Given the description of an element on the screen output the (x, y) to click on. 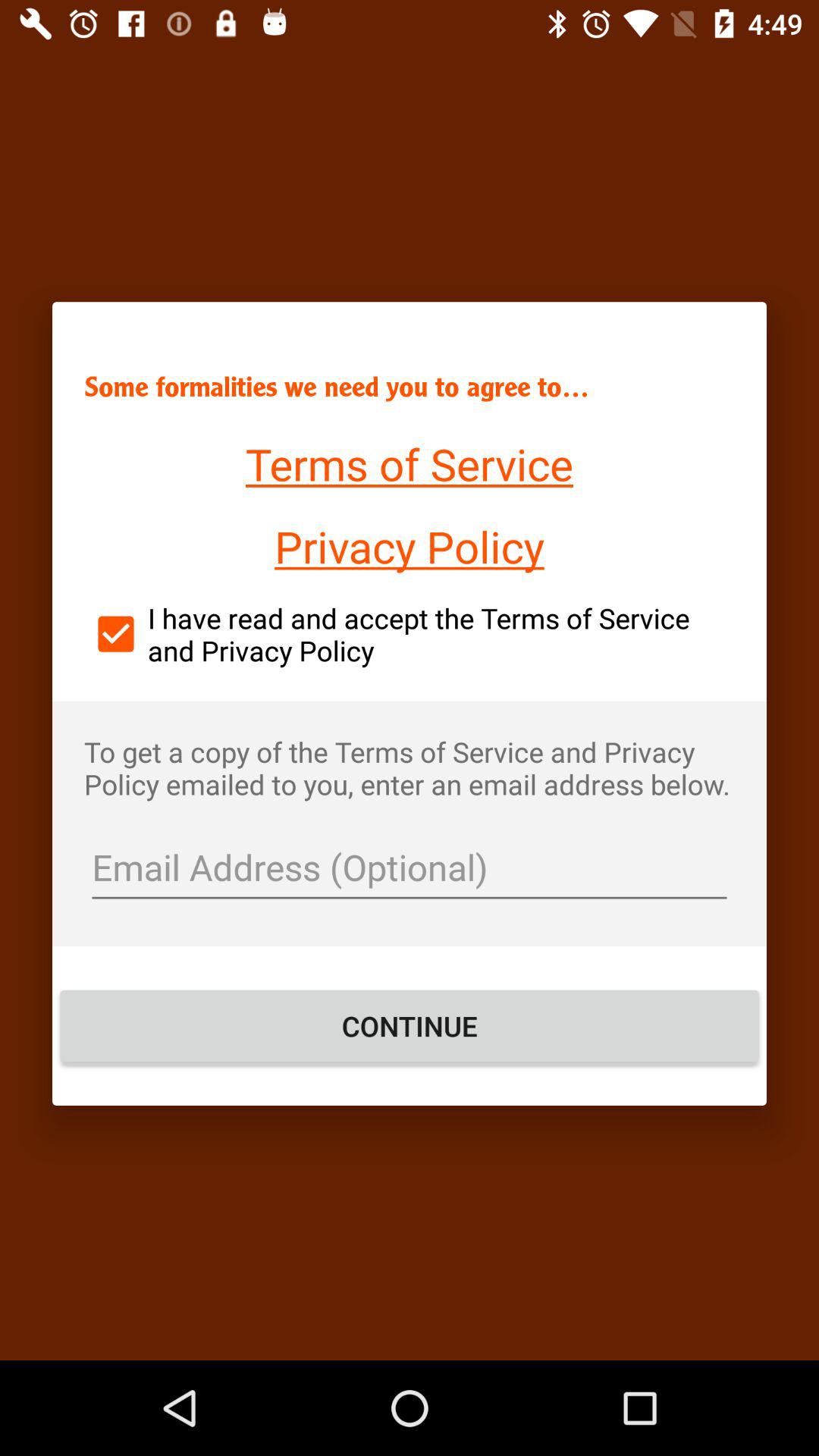
open the item below to get a item (409, 869)
